Given the description of an element on the screen output the (x, y) to click on. 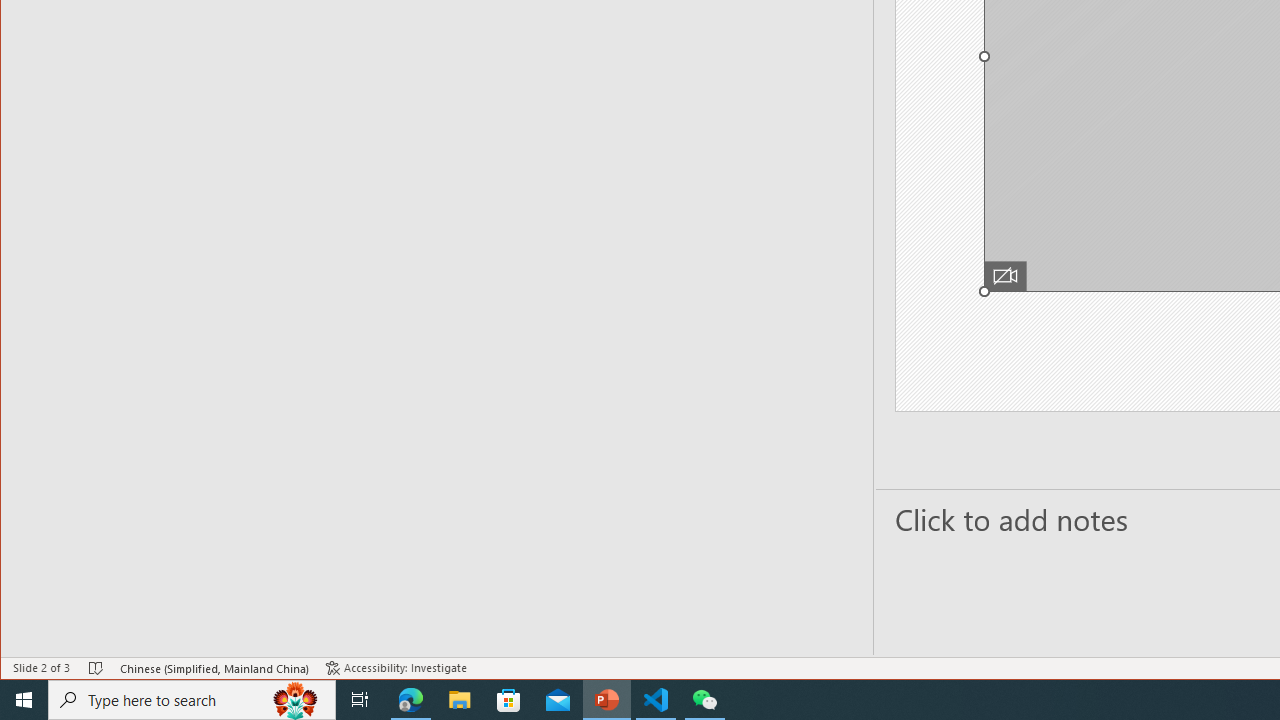
WeChat - 1 running window (704, 699)
